Given the description of an element on the screen output the (x, y) to click on. 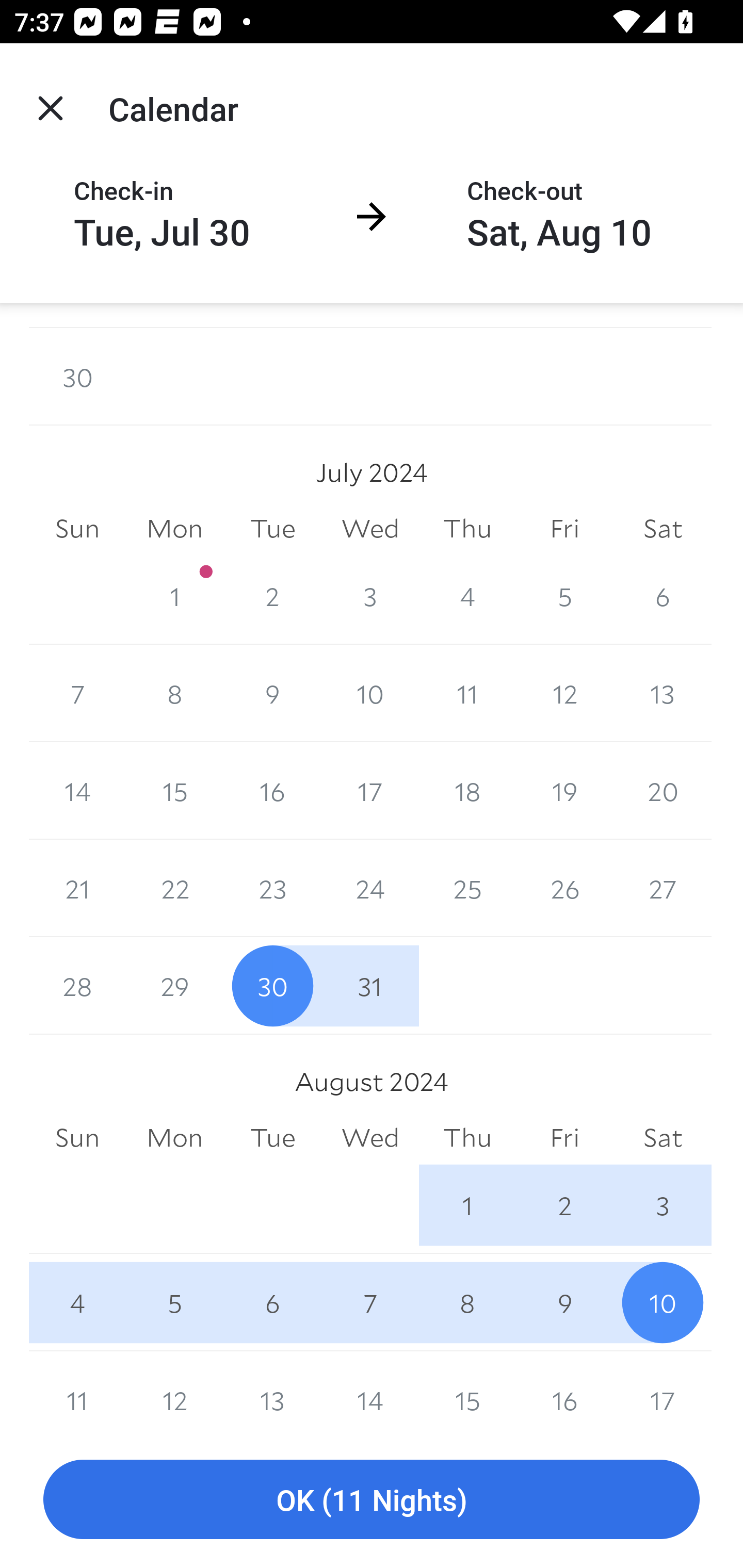
30 30 June 2024 (77, 375)
Sun (77, 528)
Mon (174, 528)
Tue (272, 528)
Wed (370, 528)
Thu (467, 528)
Fri (564, 528)
Sat (662, 528)
1 1 July 2024 (174, 595)
2 2 July 2024 (272, 595)
3 3 July 2024 (370, 595)
4 4 July 2024 (467, 595)
5 5 July 2024 (564, 595)
6 6 July 2024 (662, 595)
7 7 July 2024 (77, 692)
8 8 July 2024 (174, 692)
9 9 July 2024 (272, 692)
10 10 July 2024 (370, 692)
11 11 July 2024 (467, 692)
12 12 July 2024 (564, 692)
13 13 July 2024 (662, 692)
14 14 July 2024 (77, 790)
15 15 July 2024 (174, 790)
16 16 July 2024 (272, 790)
17 17 July 2024 (370, 790)
18 18 July 2024 (467, 790)
19 19 July 2024 (564, 790)
20 20 July 2024 (662, 790)
21 21 July 2024 (77, 888)
22 22 July 2024 (174, 888)
23 23 July 2024 (272, 888)
24 24 July 2024 (370, 888)
25 25 July 2024 (467, 888)
26 26 July 2024 (564, 888)
27 27 July 2024 (662, 888)
28 28 July 2024 (77, 985)
29 29 July 2024 (174, 985)
30 30 July 2024 (272, 985)
31 31 July 2024 (370, 985)
Sun (77, 1138)
Mon (174, 1138)
Tue (272, 1138)
Wed (370, 1138)
Thu (467, 1138)
Fri (564, 1138)
Sat (662, 1138)
1 1 August 2024 (467, 1205)
2 2 August 2024 (564, 1205)
3 3 August 2024 (662, 1205)
